Given the description of an element on the screen output the (x, y) to click on. 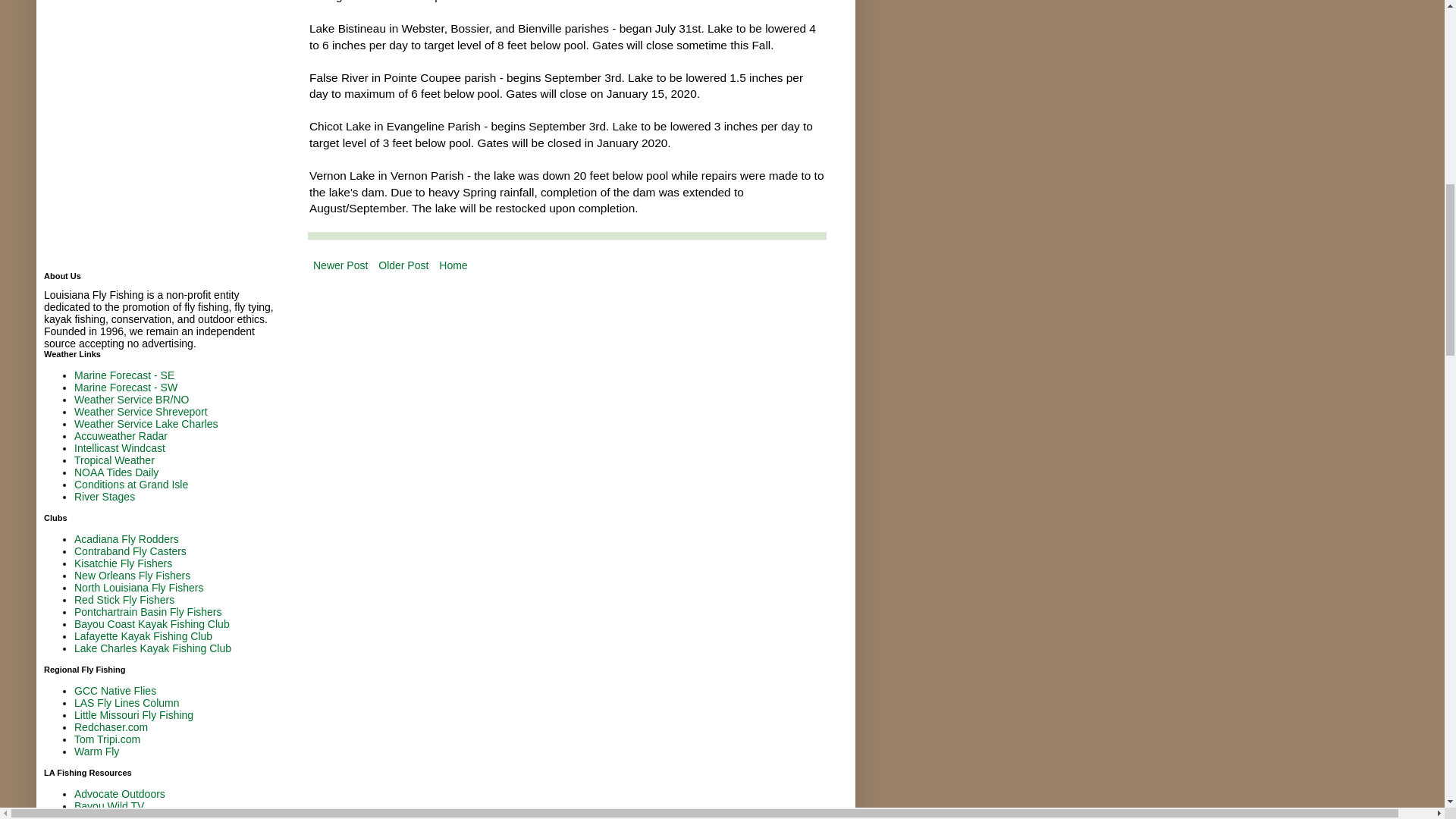
River Stages (104, 496)
LAS Fly Lines Column (126, 702)
North Louisiana Fly Fishers (138, 587)
Bayou Coast Kayak Fishing Club (152, 623)
Redchaser.com (111, 727)
Tom Tripi.com (106, 739)
Contraband Fly Casters (130, 551)
Acadiana Fly Rodders (126, 539)
Conditions at Grand Isle (130, 484)
Older Post (403, 265)
NOAA Tides Daily (116, 472)
Weather Service Shreveport (141, 411)
Weather Service Lake Charles (146, 423)
Intellicast Windcast (119, 448)
New Orleans Fly Fishers (132, 575)
